Given the description of an element on the screen output the (x, y) to click on. 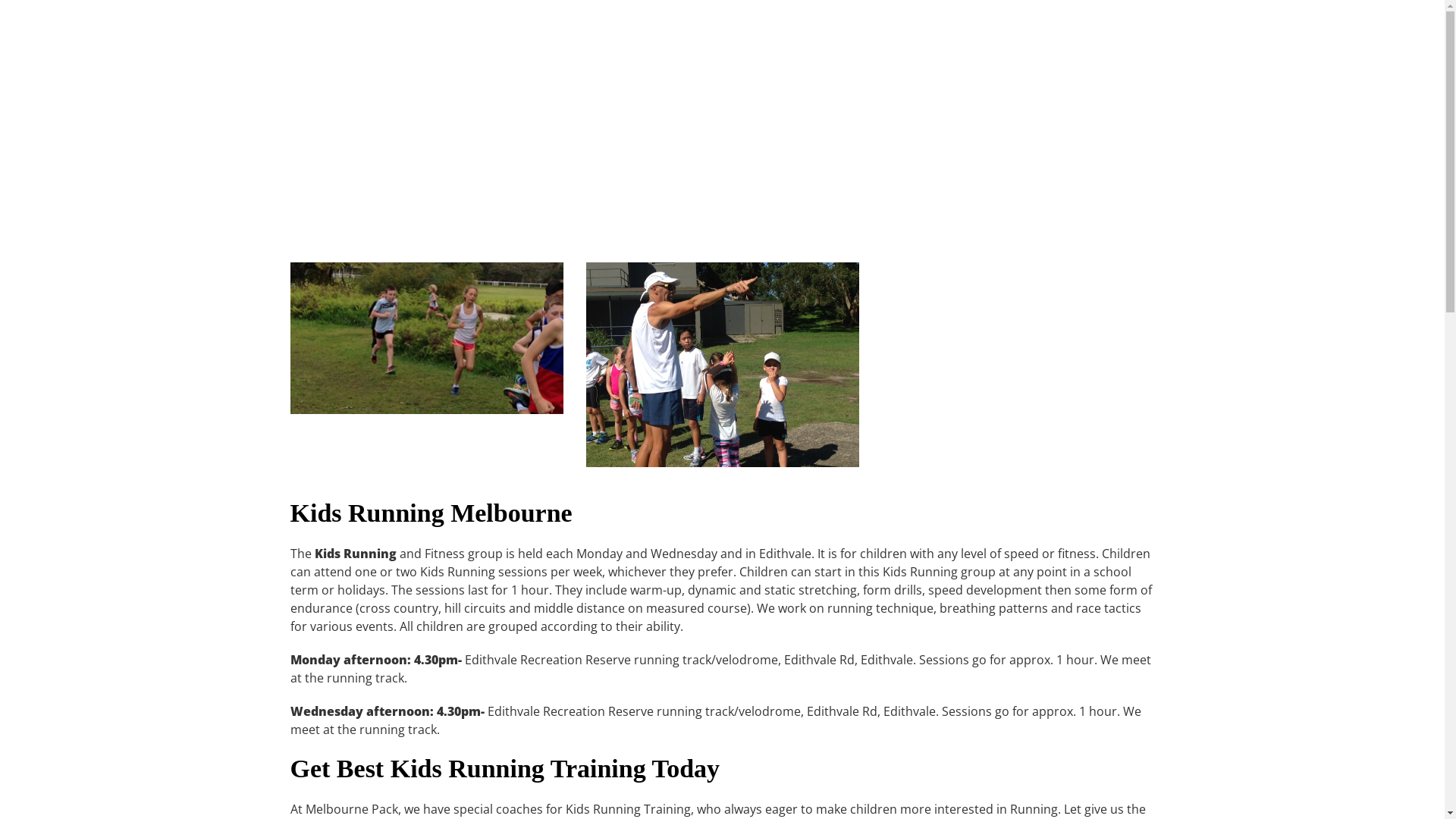
MELBOURNEPACK Element type: text (363, 37)
Home Element type: text (554, 34)
Nutrition Element type: text (1097, 34)
Coaching/Groups Element type: text (672, 34)
Athletes Element type: text (1158, 34)
Best Kids Running Element type: hover (425, 338)
Online Coaching: Running Training Program Element type: text (847, 34)
Kids Running Element type: hover (721, 364)
News Element type: text (1044, 34)
About Element type: text (595, 34)
Camps Element type: text (996, 34)
